Given the description of an element on the screen output the (x, y) to click on. 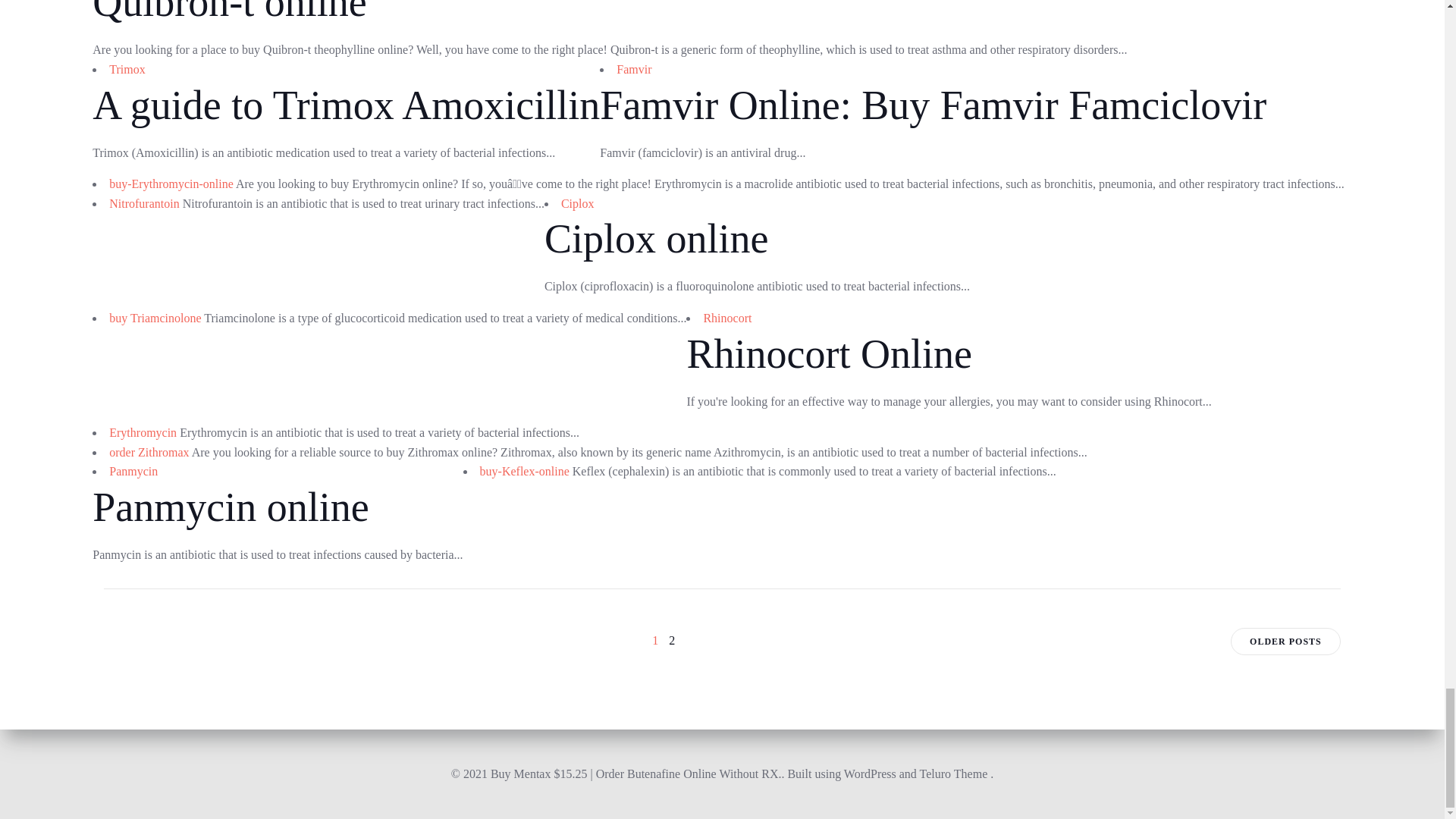
OLDER POSTS (1285, 641)
order Zithromax (149, 451)
buy Triamcinolone (154, 318)
buy-Erythromycin-online (170, 183)
Ciplox (577, 203)
Famvir (632, 69)
Panmycin (133, 471)
Nitrofurantoin (144, 203)
Rhinocort (727, 318)
Trimox (126, 69)
Erythromycin (142, 431)
buy-Keflex-online (524, 471)
